Given the description of an element on the screen output the (x, y) to click on. 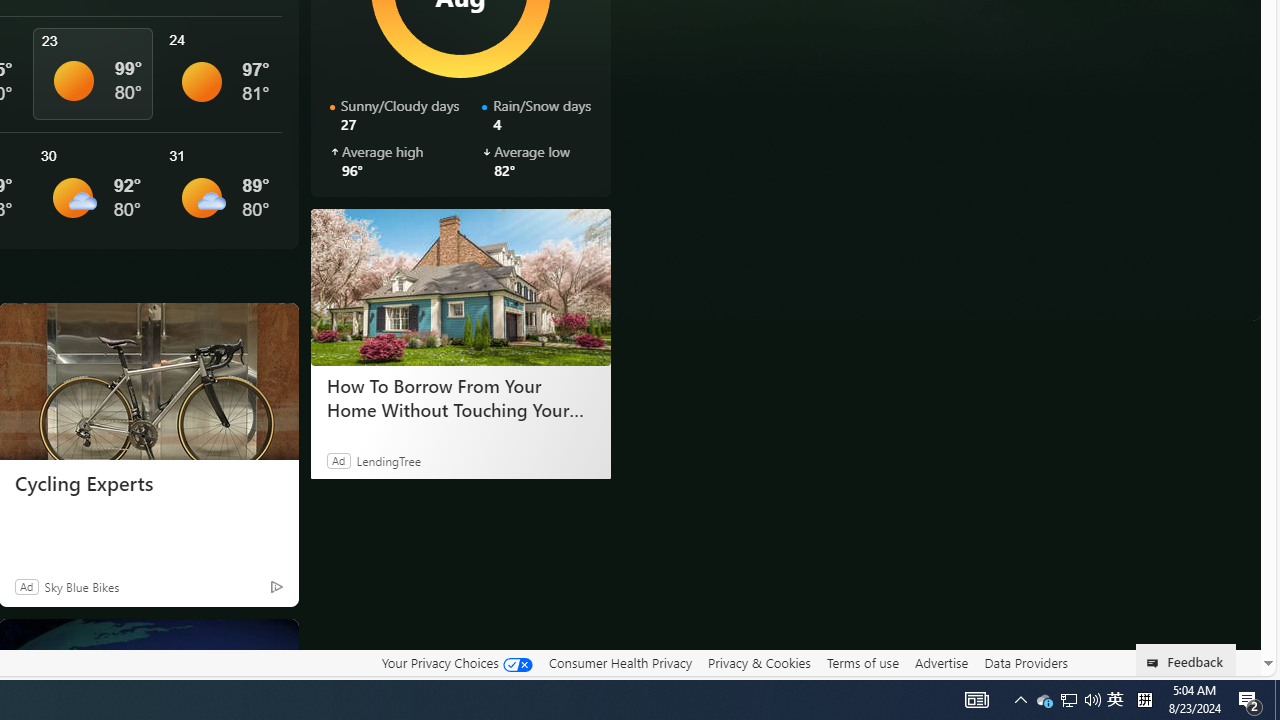
Terms of use (861, 662)
See More Details (221, 190)
Your Privacy Choices (456, 662)
LendingTree (388, 460)
Your Privacy Choices (456, 663)
Cycling Experts (148, 484)
Terms of use (861, 663)
Class: feedback_link_icon-DS-EntryPoint1-1 (1156, 663)
